Given the description of an element on the screen output the (x, y) to click on. 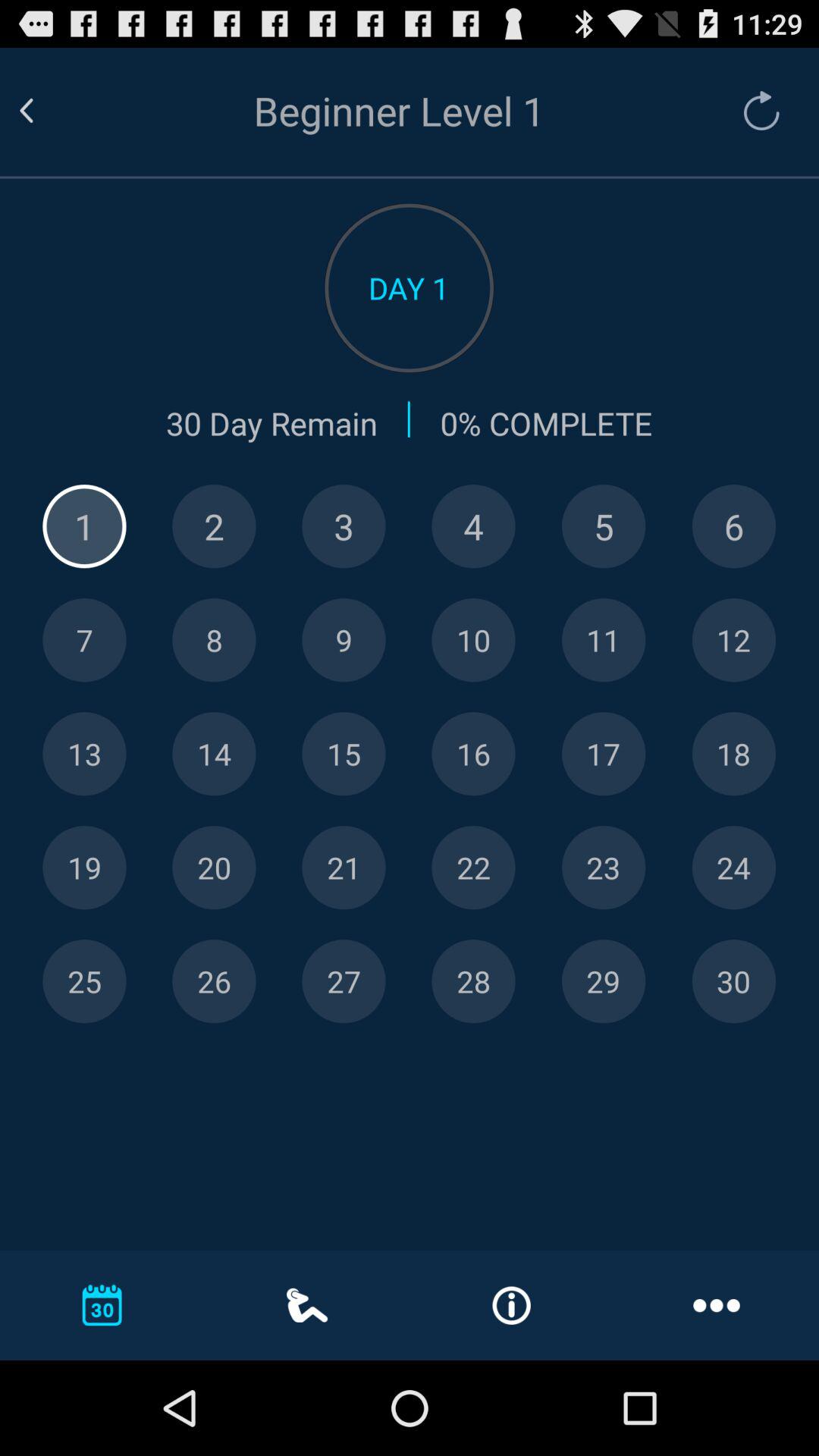
select 15 (343, 753)
